Given the description of an element on the screen output the (x, y) to click on. 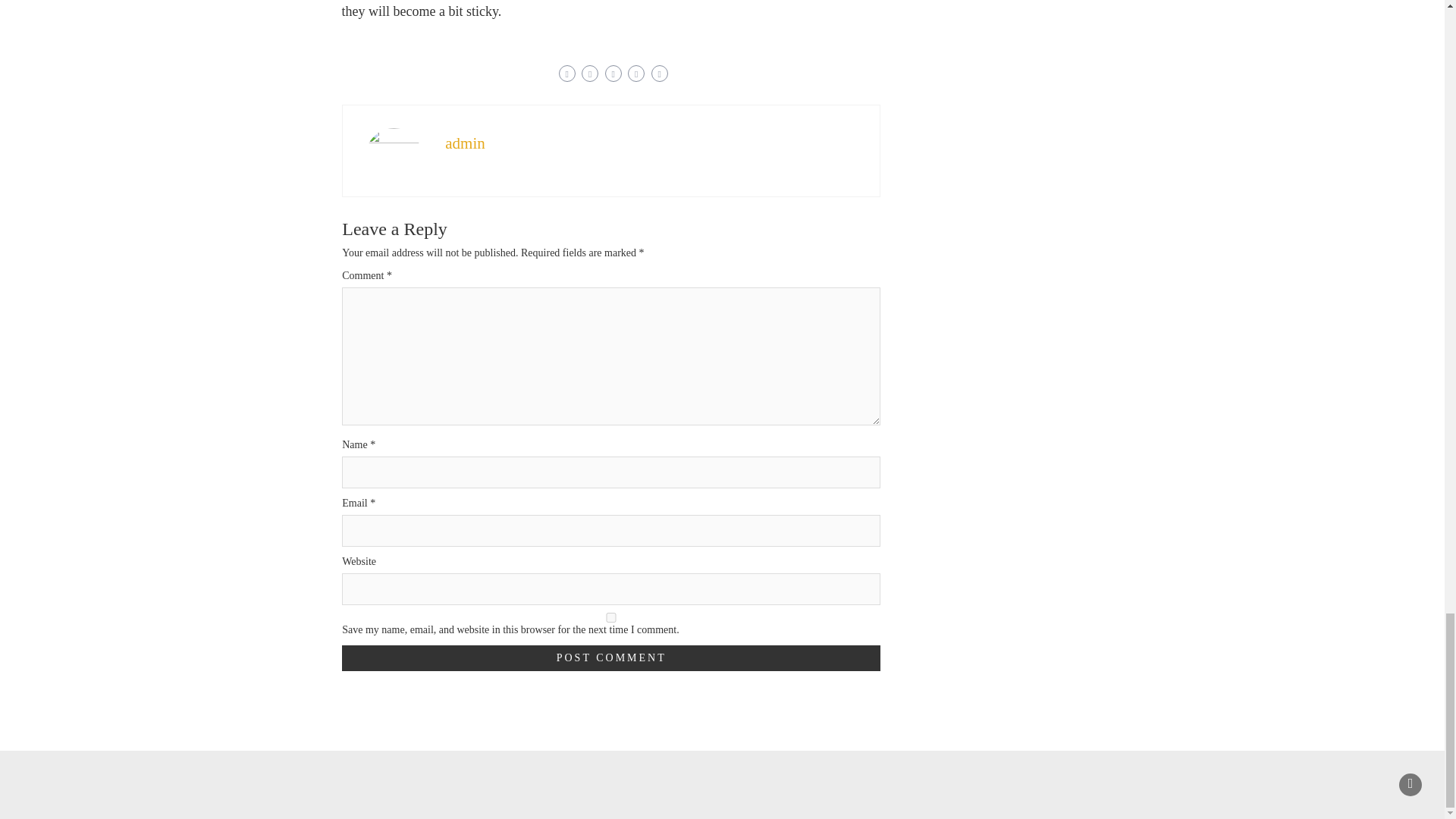
Post Comment (611, 657)
admin (464, 143)
yes (611, 617)
Post Comment (611, 657)
